Given the description of an element on the screen output the (x, y) to click on. 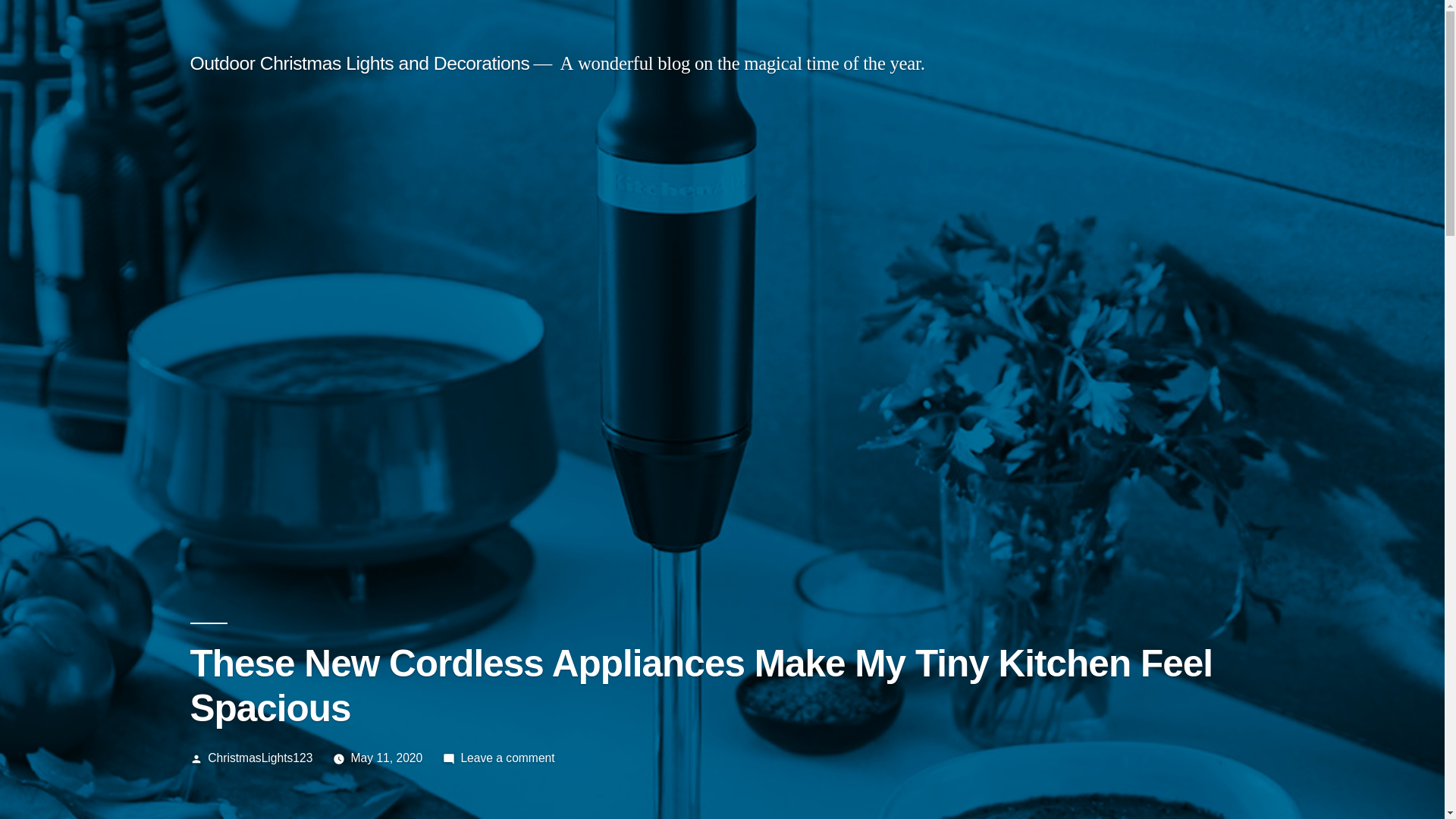
May 11, 2020 (386, 757)
ChristmasLights123 (260, 757)
Outdoor Christmas Lights and Decorations (359, 63)
